Given the description of an element on the screen output the (x, y) to click on. 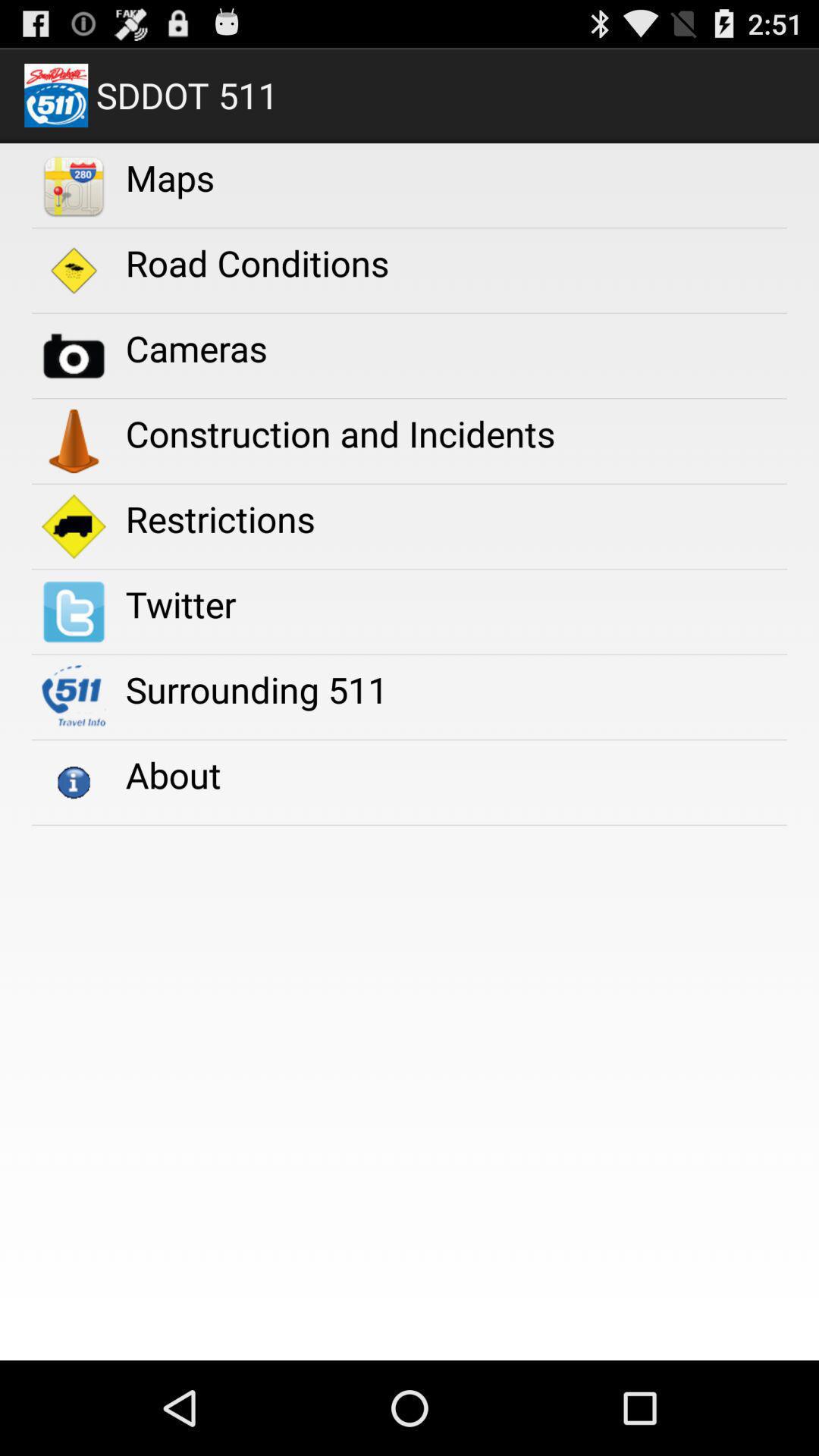
open the construction and incidents item (340, 433)
